Given the description of an element on the screen output the (x, y) to click on. 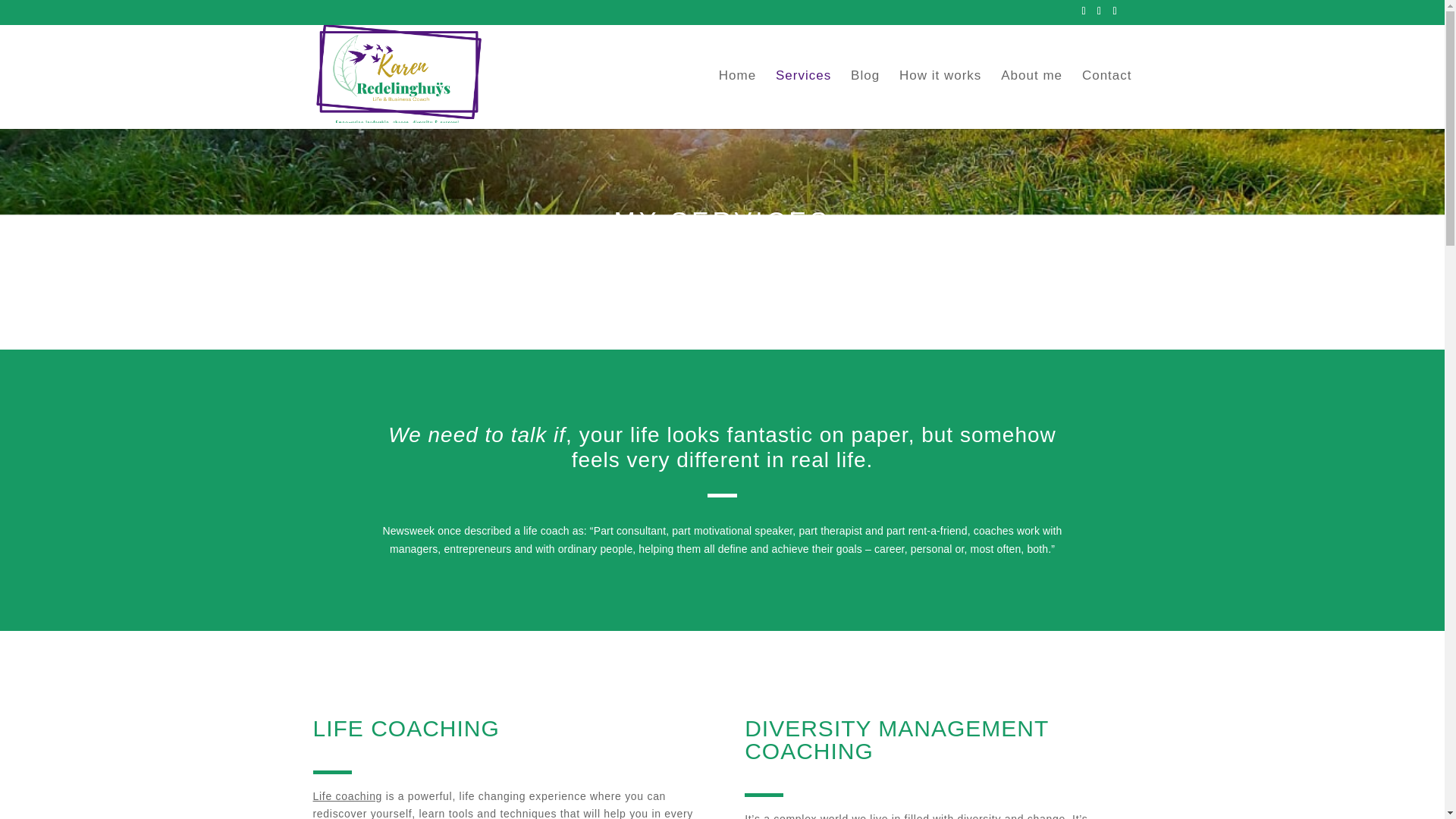
About me (1031, 99)
How it works (940, 99)
Services (803, 99)
